Given the description of an element on the screen output the (x, y) to click on. 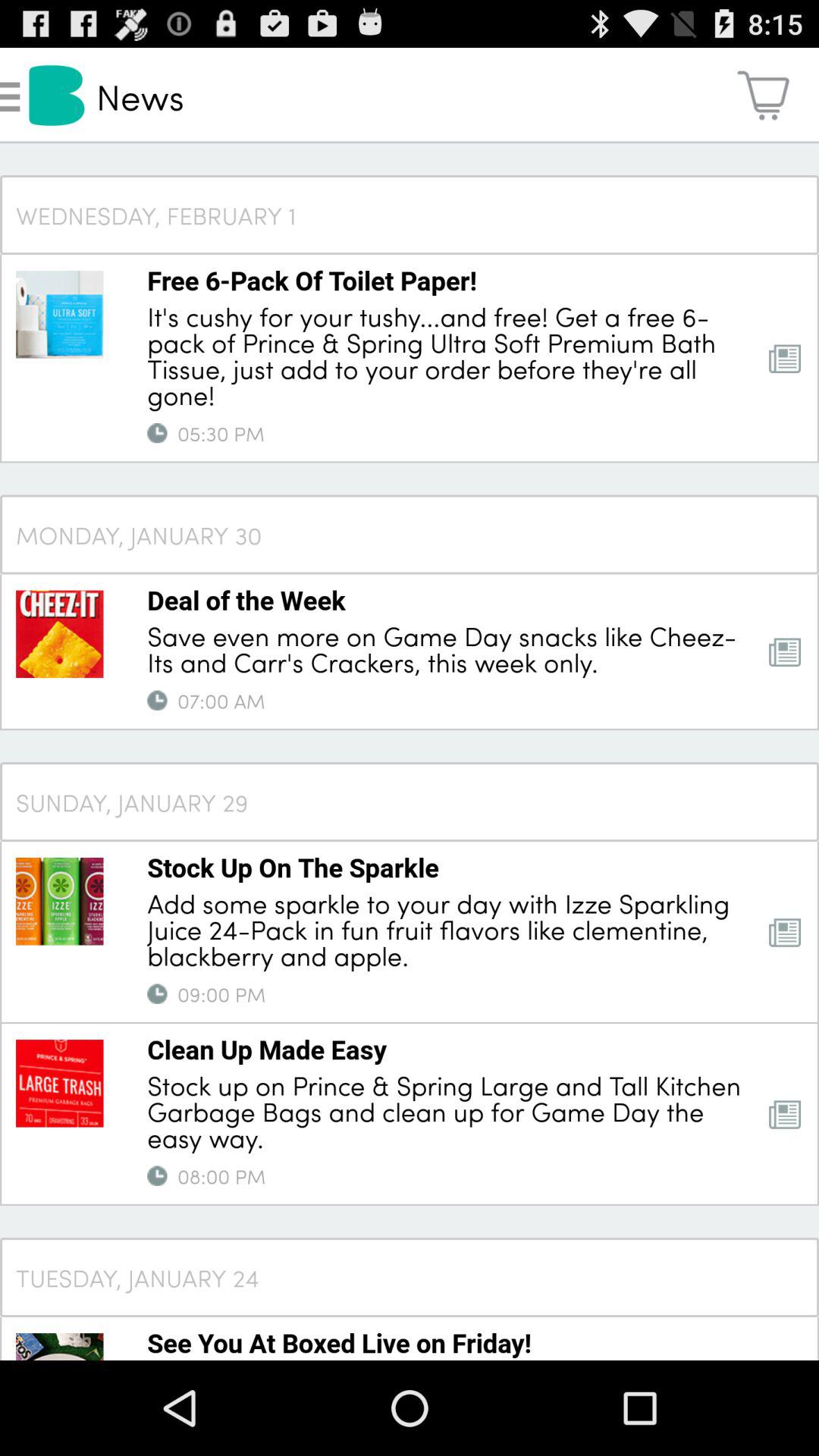
select deal of the app (246, 599)
